Given the description of an element on the screen output the (x, y) to click on. 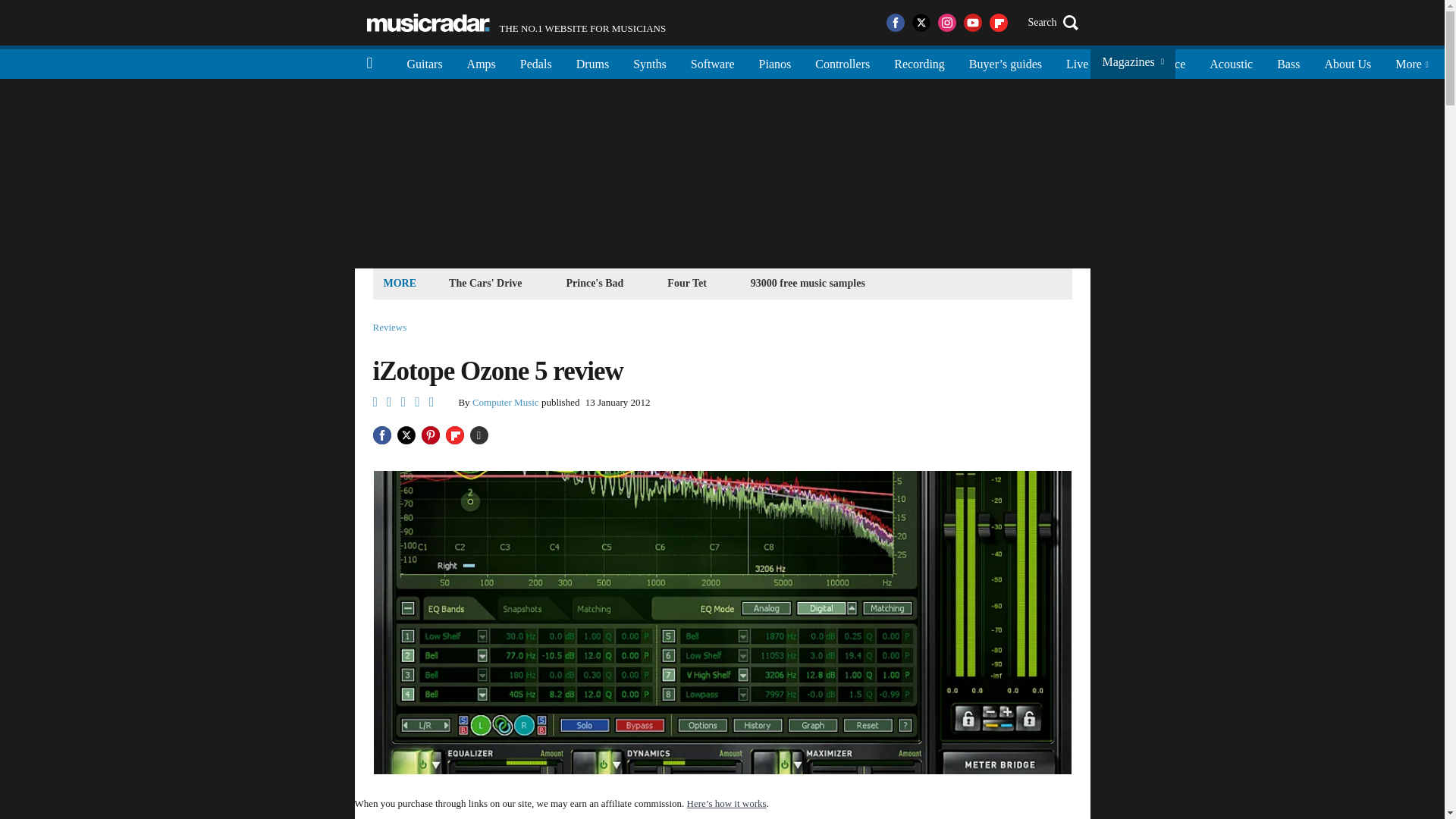
Live (1077, 61)
Pianos (774, 61)
Acoustic (1230, 61)
Controllers (842, 61)
Advice (1167, 61)
Pedals (536, 61)
DJ (1119, 61)
Computer Music (504, 401)
Bass (1288, 61)
Software (712, 61)
